Given the description of an element on the screen output the (x, y) to click on. 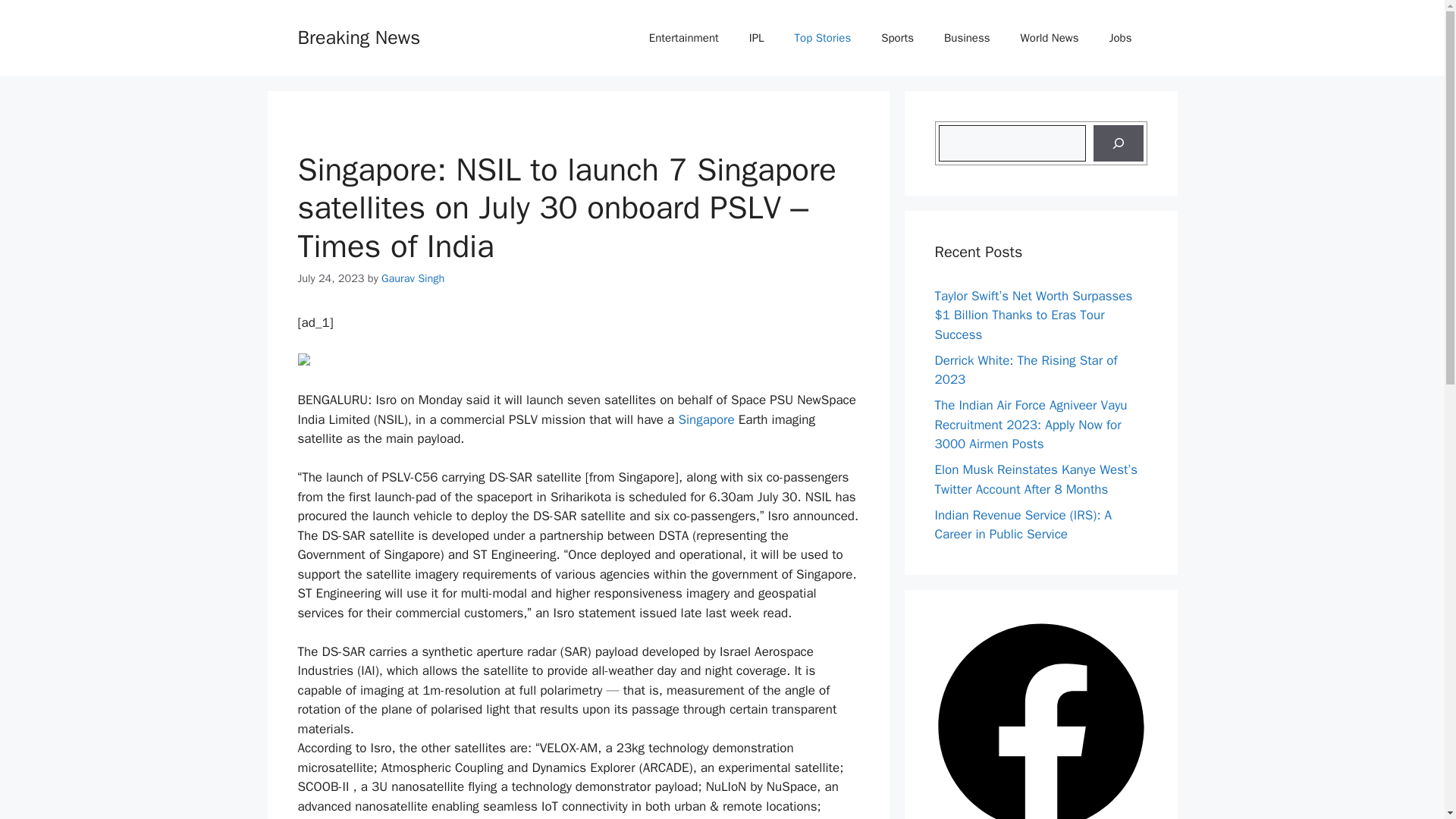
World News (1050, 37)
Singapore (705, 419)
Top Stories (822, 37)
IPL (755, 37)
Entertainment (683, 37)
Breaking News (358, 37)
Gaurav Singh (412, 278)
Derrick White: The Rising Star of 2023 (1025, 369)
Jobs (1120, 37)
View all posts by Gaurav Singh (412, 278)
Sports (897, 37)
Business (967, 37)
